Given the description of an element on the screen output the (x, y) to click on. 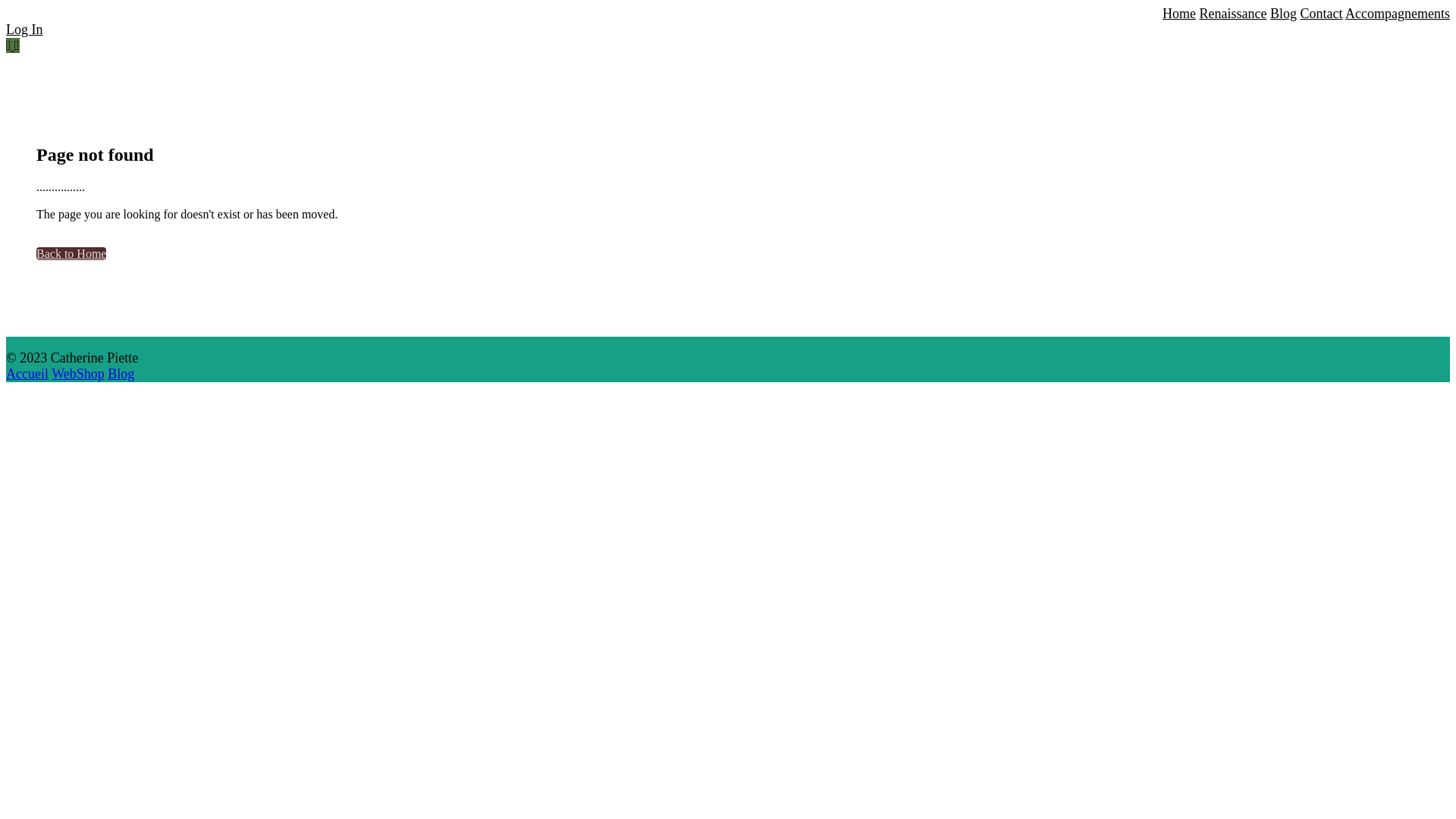
Renaissance Element type: text (1233, 13)
Back to Home Element type: text (71, 253)
Home Element type: text (1178, 13)
Log In Element type: text (24, 29)
Accompagnements Element type: text (1397, 13)
WebShop Element type: text (77, 373)
Blog Element type: text (1283, 13)
Contact Element type: text (1321, 13)
Accueil Element type: text (27, 373)
Blog Element type: text (120, 373)
